Given the description of an element on the screen output the (x, y) to click on. 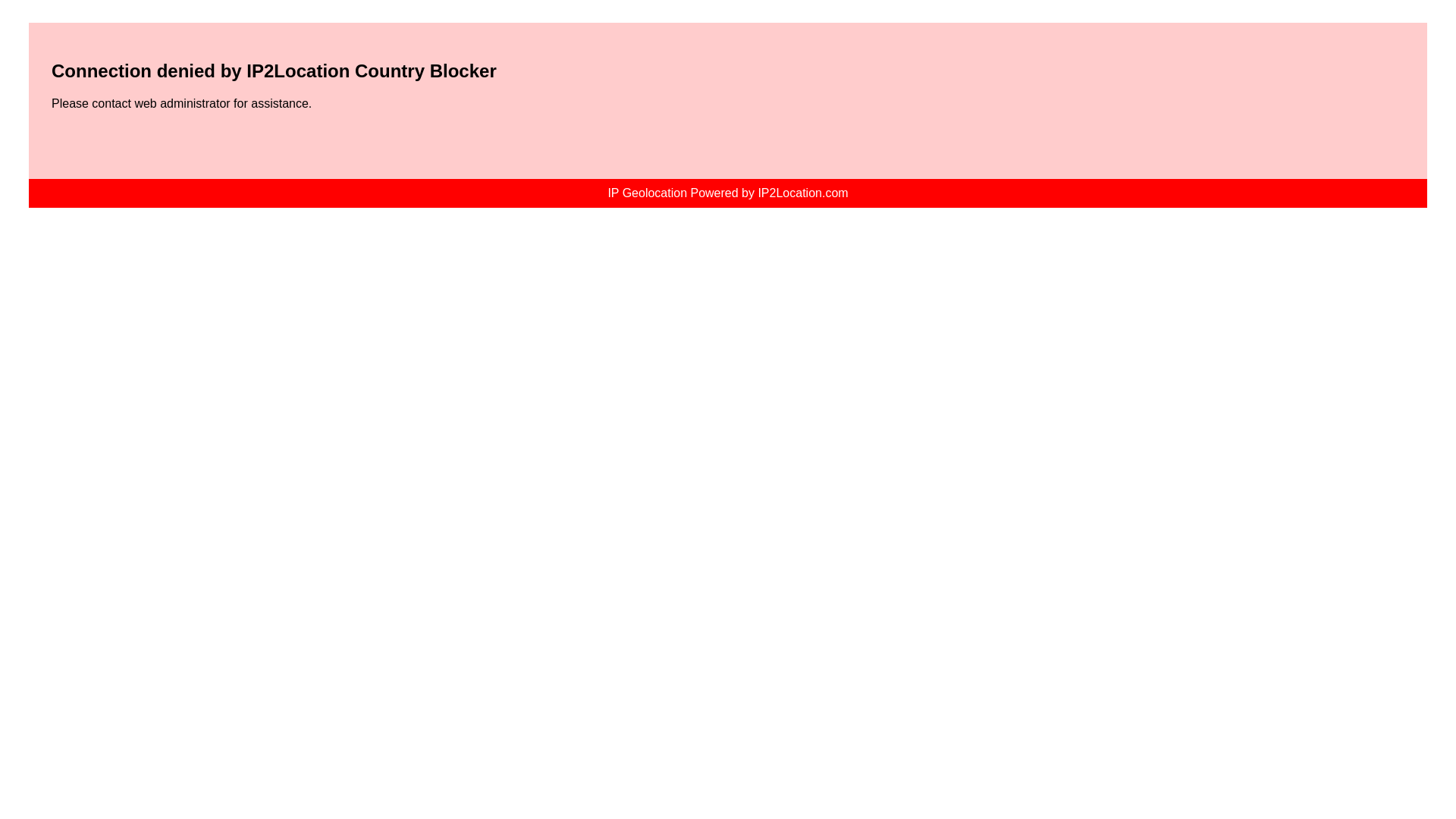
IP Geolocation Powered by IP2Location.com (727, 192)
